Given the description of an element on the screen output the (x, y) to click on. 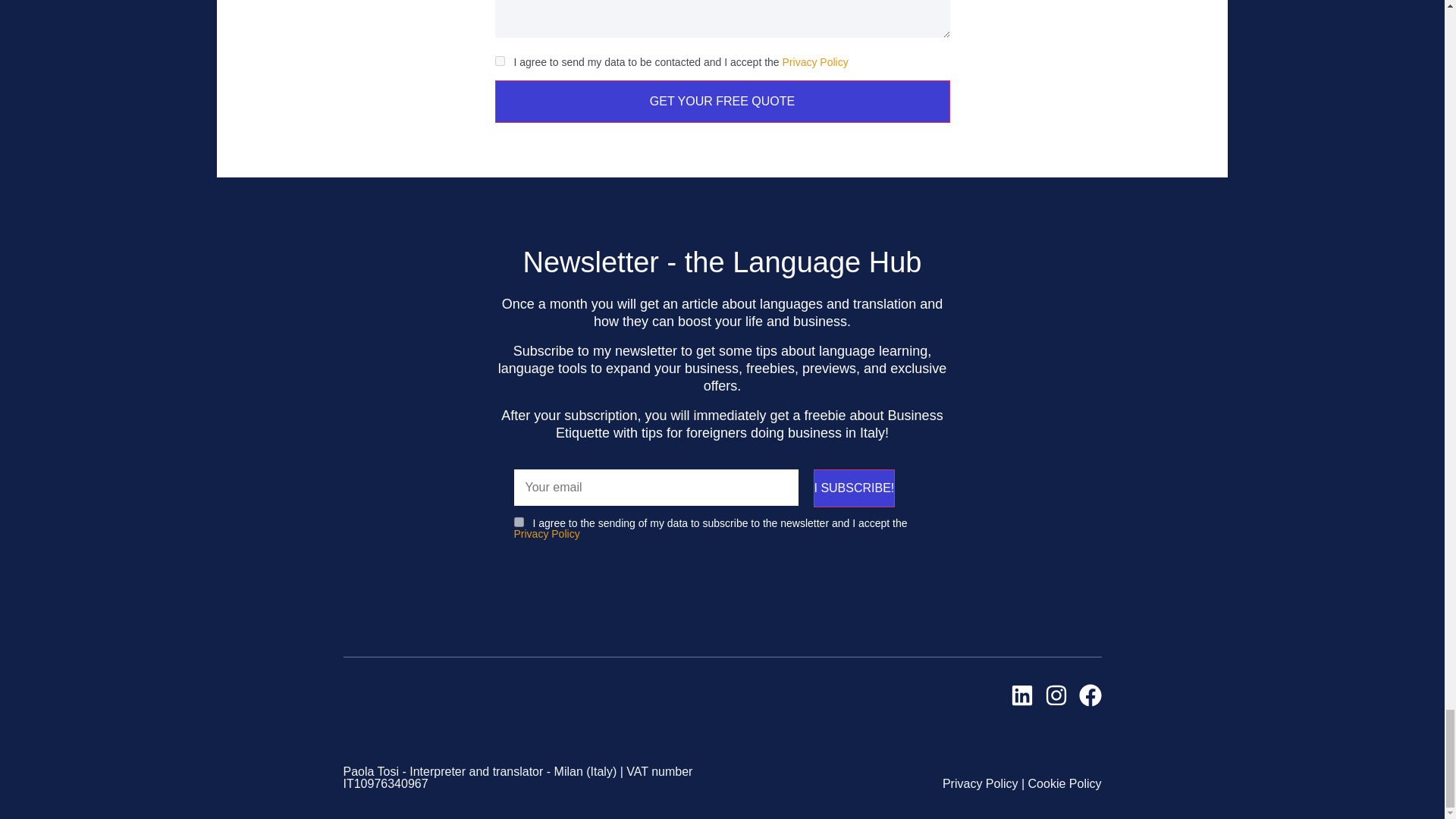
Cookie Policy  (1064, 783)
Privacy Policy  (546, 533)
Privacy Policy  (979, 783)
1 (499, 61)
GET YOUR FREE QUOTE (722, 101)
1 (518, 521)
I SUBSCRIBE! (853, 487)
Privacy Policy  (815, 61)
